Given the description of an element on the screen output the (x, y) to click on. 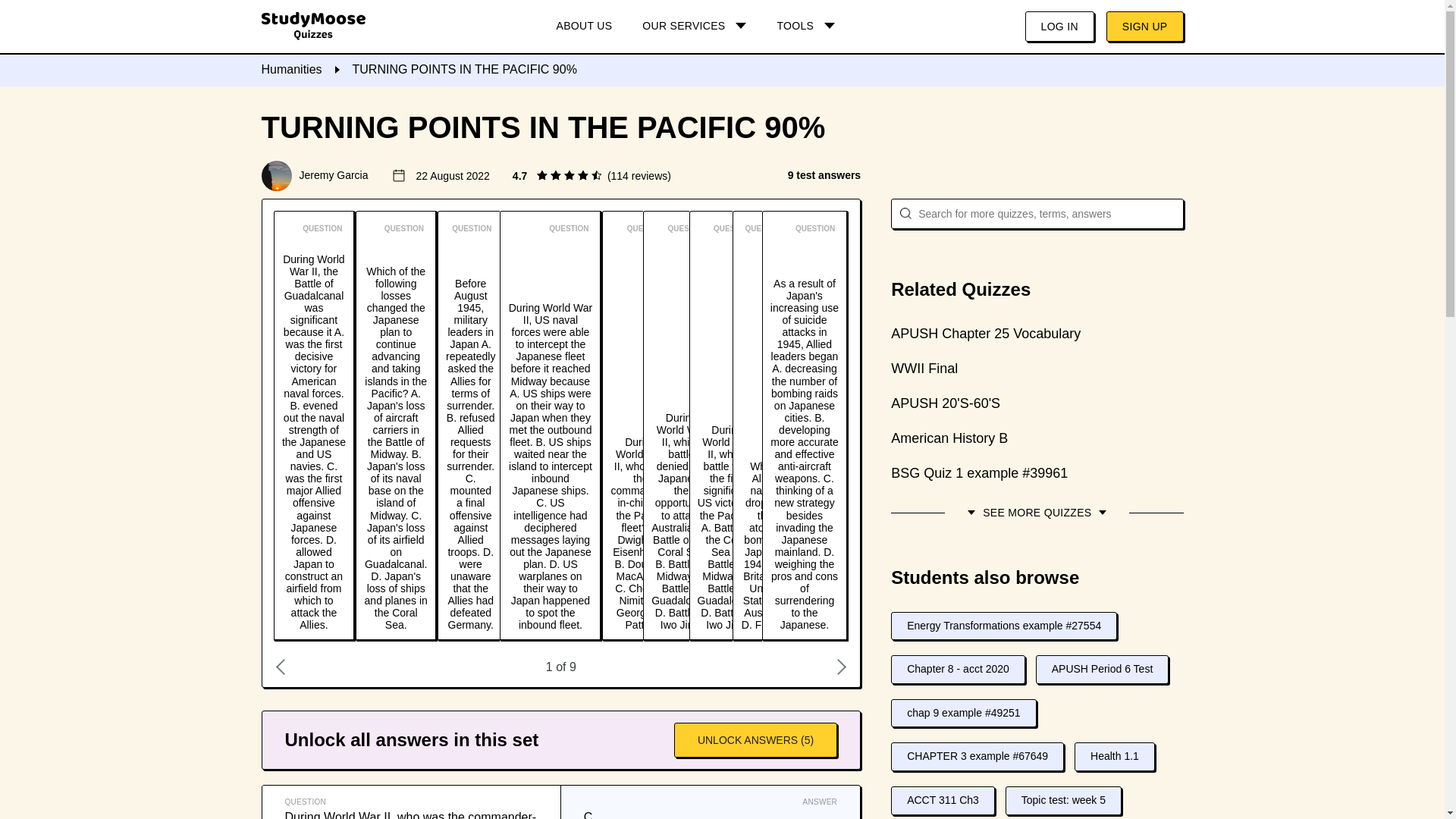
Humanities (290, 69)
ABOUT US (584, 26)
TOOLS (805, 26)
American History B (1036, 437)
WWII Final (1036, 368)
SIGN UP (1144, 26)
OUR SERVICES (694, 26)
APUSH Chapter 25 Vocabulary (1036, 333)
LOG IN (1059, 26)
APUSH 20'S-60'S (1036, 403)
